Given the description of an element on the screen output the (x, y) to click on. 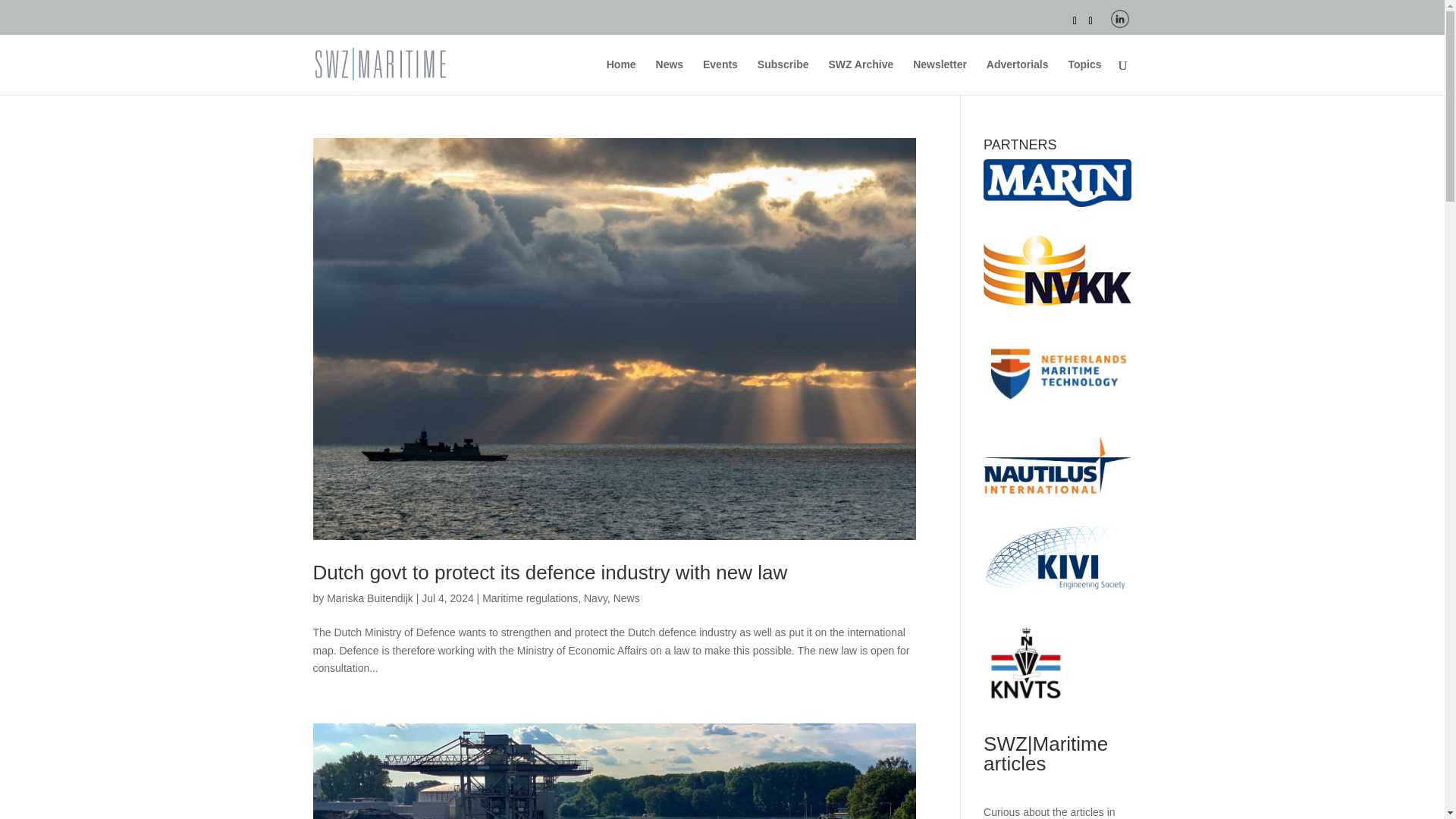
Events (720, 76)
PARTNERS (1057, 182)
Navy (595, 598)
Topics (1083, 76)
Dutch govt to protect its defence industry with new law (550, 572)
SWZ Archive (860, 76)
Subscribe (783, 76)
Newsletter (939, 76)
Maritime regulations (529, 598)
Mariska Buitendijk (369, 598)
